Given the description of an element on the screen output the (x, y) to click on. 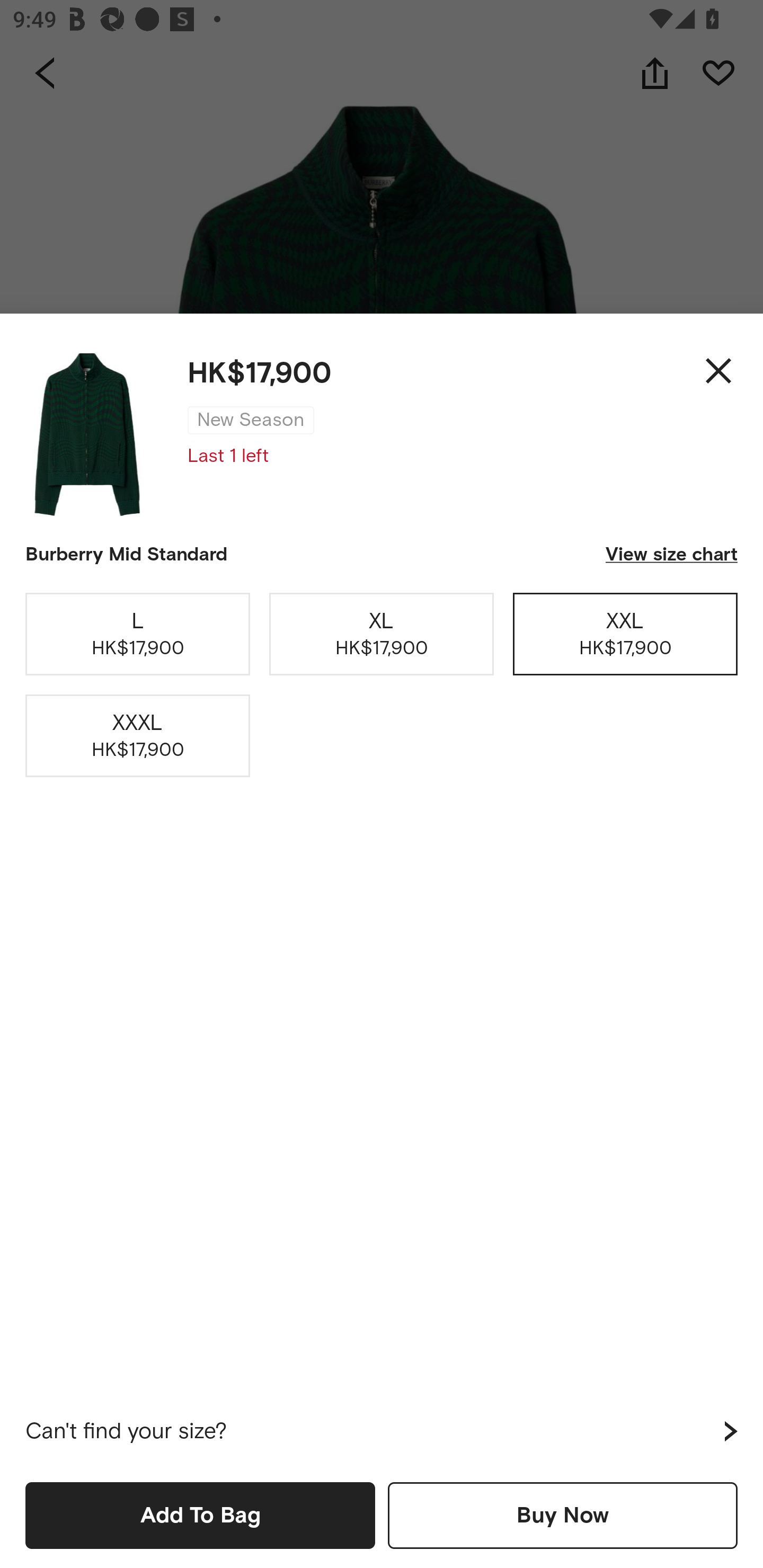
L HK$17,900 (137, 633)
XL HK$17,900 (381, 633)
XXL HK$17,900 (624, 633)
XXXL HK$17,900 (137, 735)
Can't find your size? (381, 1431)
Add To Bag (200, 1515)
Buy Now (562, 1515)
